Given the description of an element on the screen output the (x, y) to click on. 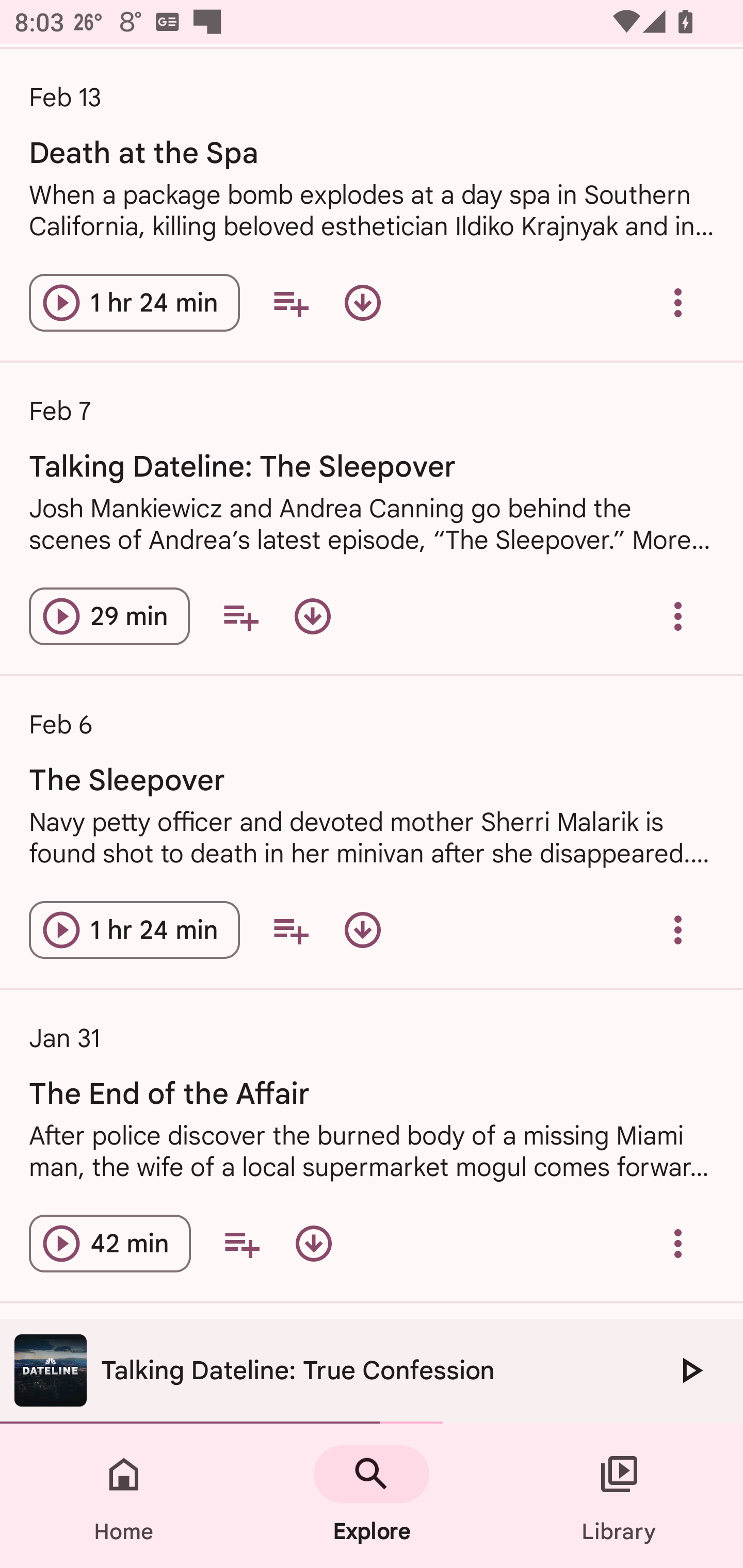
Play episode Death at the Spa 1 hr 24 min (133, 302)
Add to your queue (290, 302)
Download episode (362, 302)
Overflow menu (677, 302)
Add to your queue (240, 616)
Download episode (312, 616)
Overflow menu (677, 616)
Play episode The Sleepover 1 hr 24 min (133, 929)
Add to your queue (290, 929)
Download episode (362, 929)
Overflow menu (677, 929)
Play episode The End of the Affair 42 min (109, 1243)
Add to your queue (241, 1243)
Download episode (313, 1243)
Overflow menu (677, 1243)
Play (690, 1370)
Home (123, 1495)
Library (619, 1495)
